Given the description of an element on the screen output the (x, y) to click on. 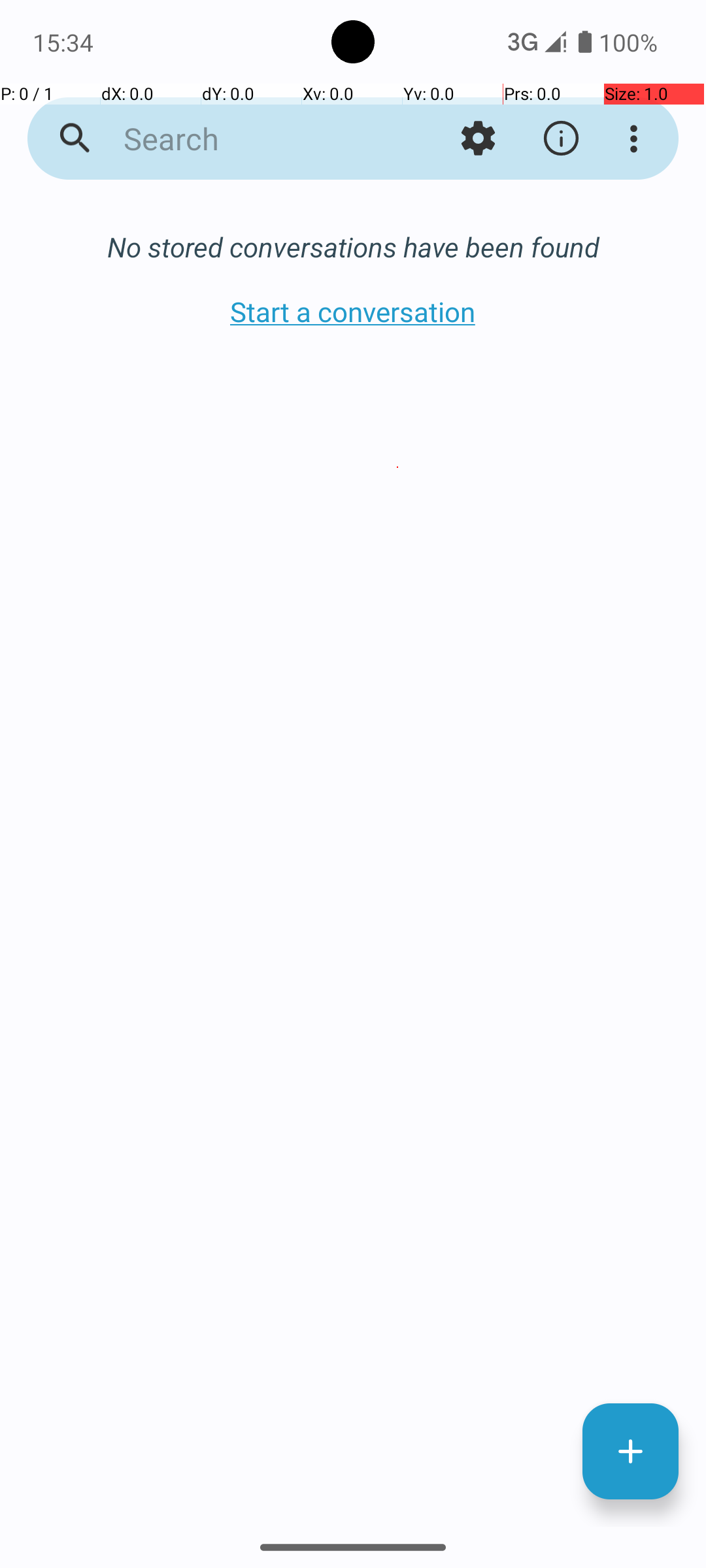
No stored conversations have been found Element type: android.widget.TextView (353, 246)
Start a conversation Element type: android.widget.TextView (352, 311)
